Given the description of an element on the screen output the (x, y) to click on. 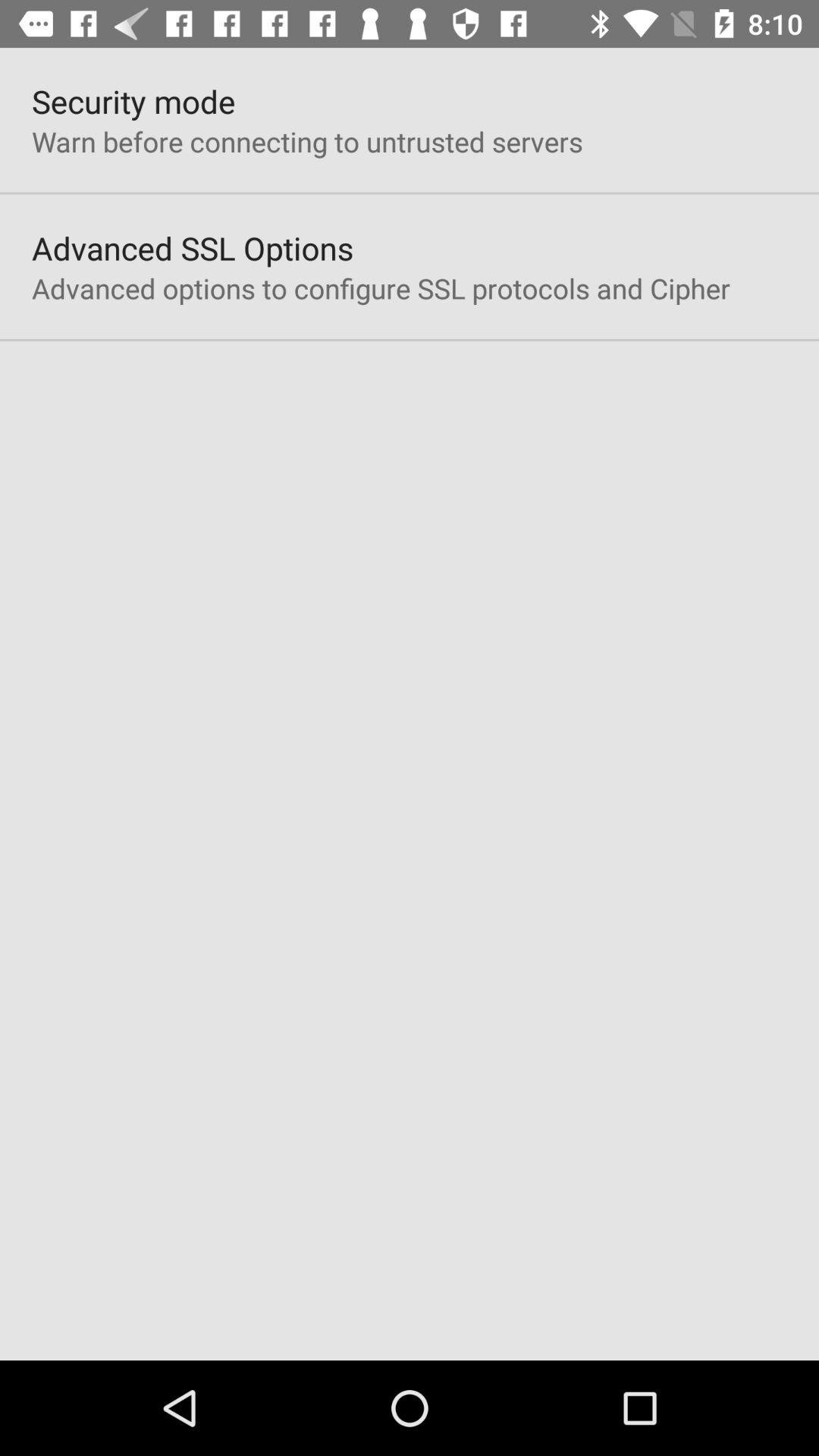
turn off warn before connecting icon (306, 141)
